Given the description of an element on the screen output the (x, y) to click on. 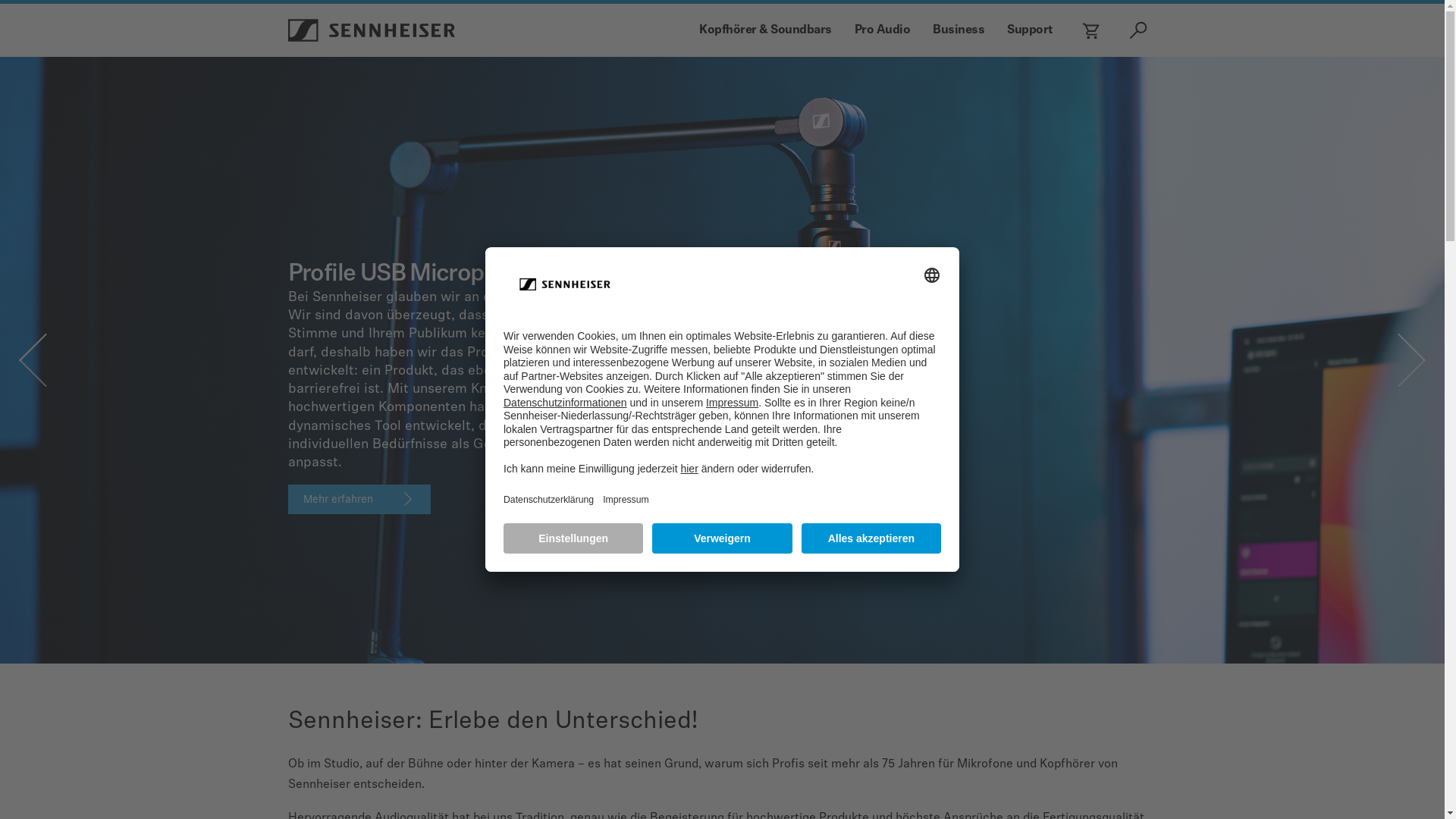
Next Element type: text (1406, 359)
Support Element type: text (1030, 29)
Business Element type: text (958, 29)
Evolution Wireless Digital Element type: text (420, 274)
Pro Audio Element type: text (881, 29)
Mehr erfahren Element type: text (359, 406)
Previous Element type: text (37, 359)
